Given the description of an element on the screen output the (x, y) to click on. 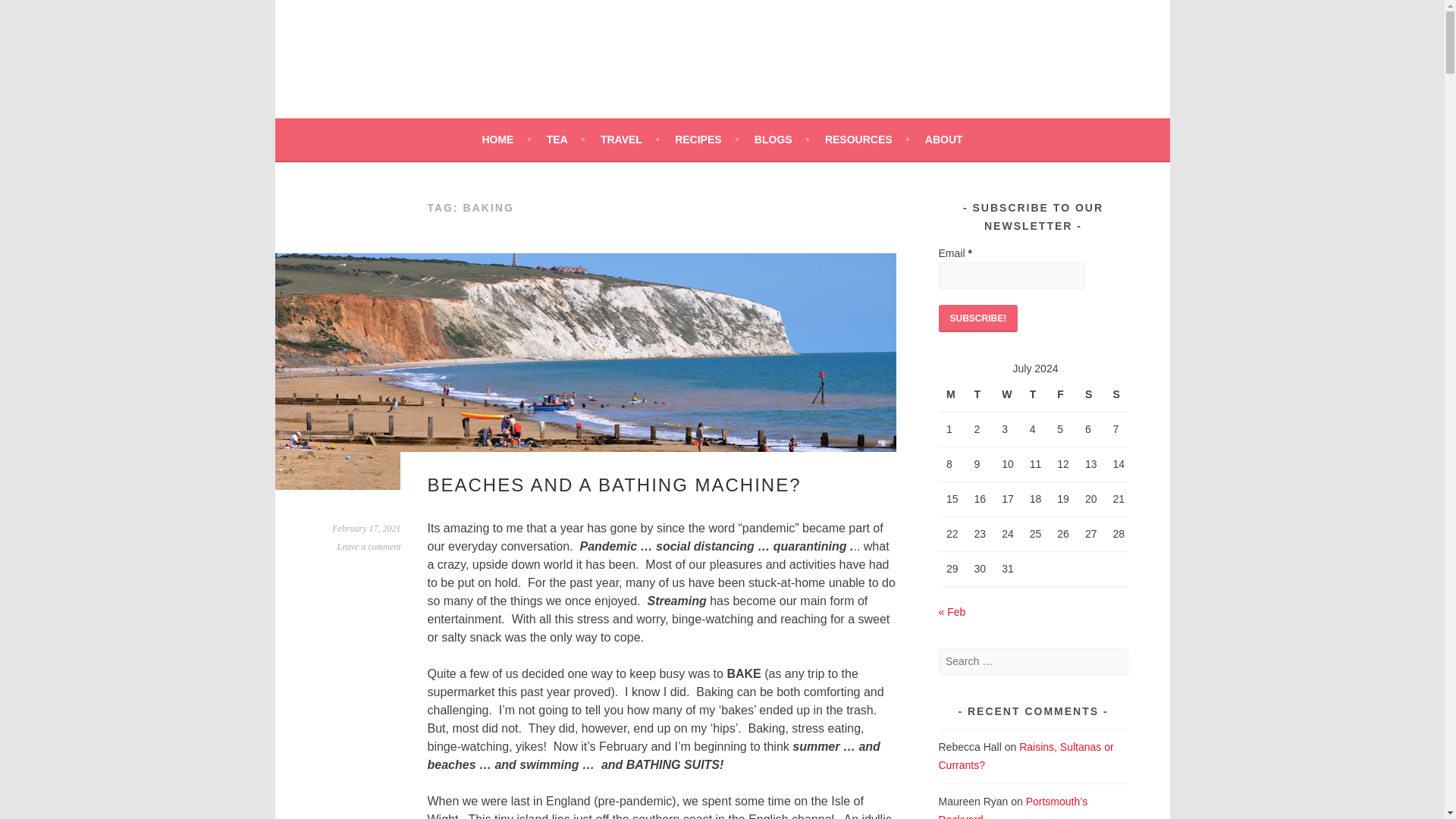
Tea, Toast and Travel (498, 71)
Subscribe! (978, 318)
TEA (566, 139)
TRAVEL (629, 139)
Leave a comment (369, 546)
RESOURCES (866, 139)
Email (1012, 275)
TEA, TOAST AND TRAVEL (498, 71)
Permalink to Beaches and a Bathing Machine? (365, 528)
February 17, 2021 (365, 528)
BLOGS (781, 139)
RECIPES (706, 139)
HOME (506, 139)
ABOUT (943, 139)
BEACHES AND A BATHING MACHINE? (615, 485)
